Given the description of an element on the screen output the (x, y) to click on. 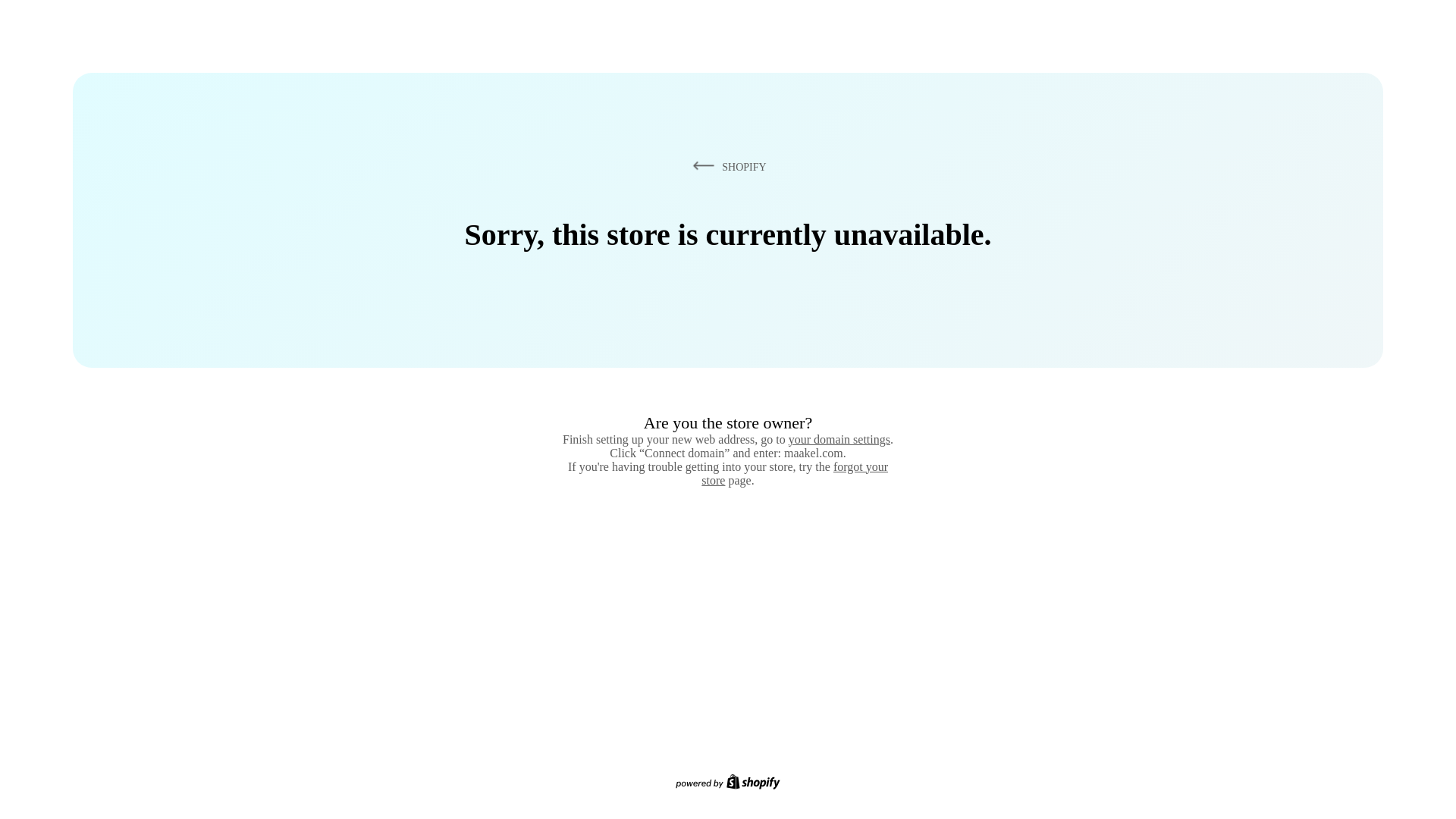
your domain settings (839, 439)
forgot your store (794, 473)
SHOPIFY (726, 166)
